Given the description of an element on the screen output the (x, y) to click on. 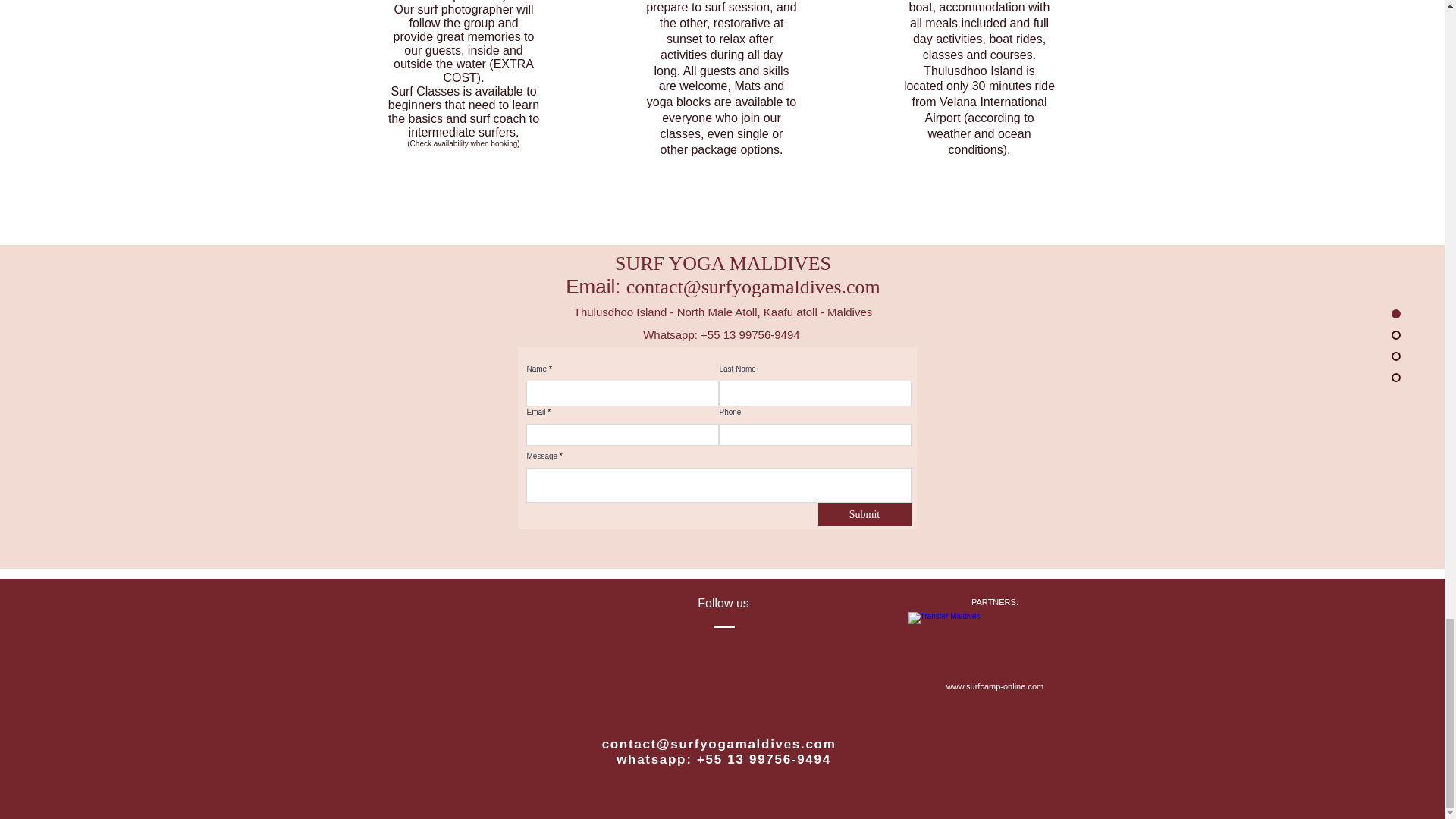
Submit (863, 513)
www.surfcamp-online.com (994, 686)
Follow us (698, 275)
